Given the description of an element on the screen output the (x, y) to click on. 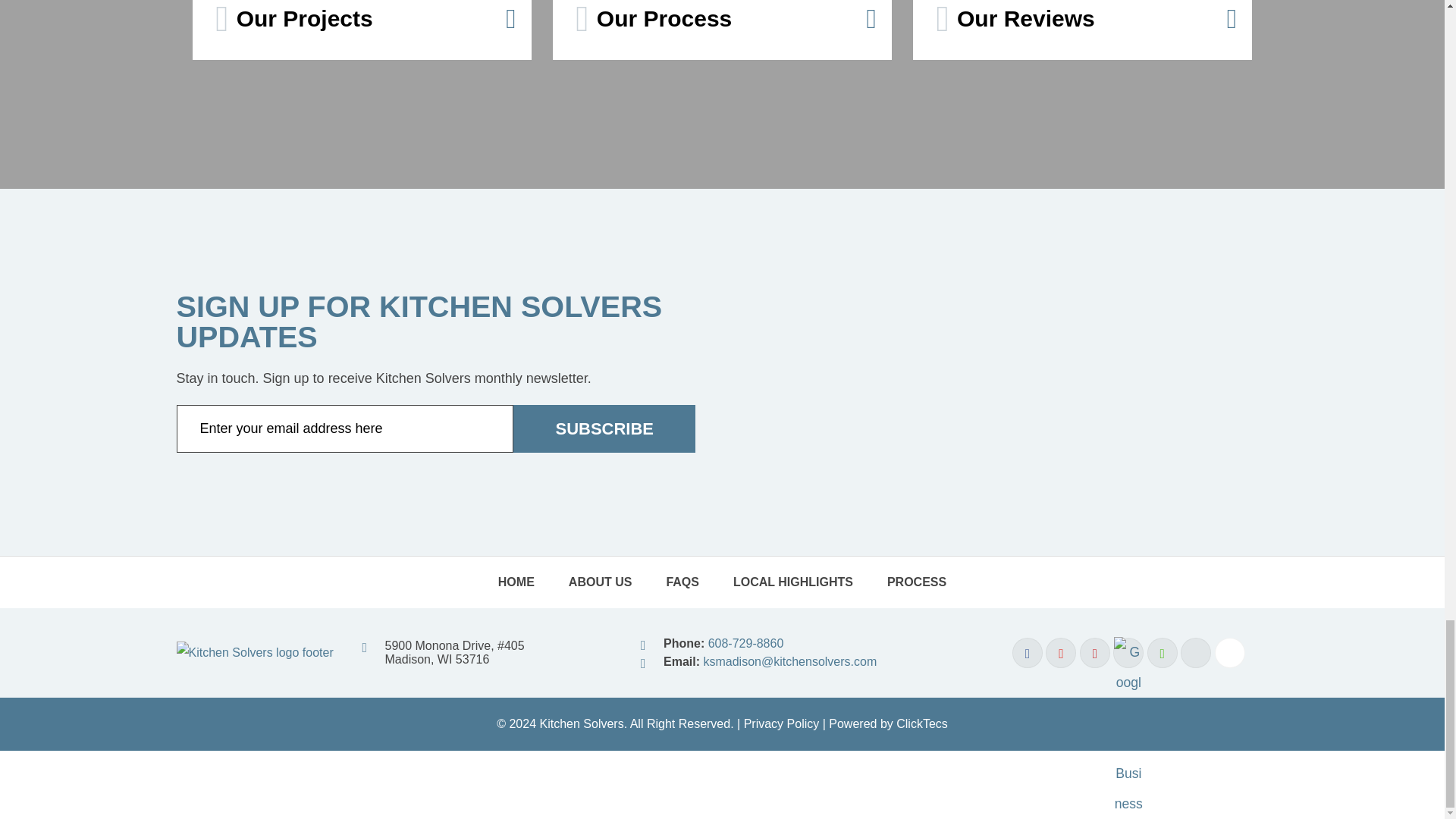
PROCESS (916, 582)
Subscribe (604, 428)
LOCAL HIGHLIGHTS (792, 582)
Our Process (722, 29)
Kitchen Solvers of Madison (254, 652)
Our Projects (361, 29)
Our Reviews (1081, 29)
ABOUT US (600, 582)
FAQS (682, 582)
Subscribe (604, 428)
HOME (516, 582)
608-729-8860 (745, 643)
